Given the description of an element on the screen output the (x, y) to click on. 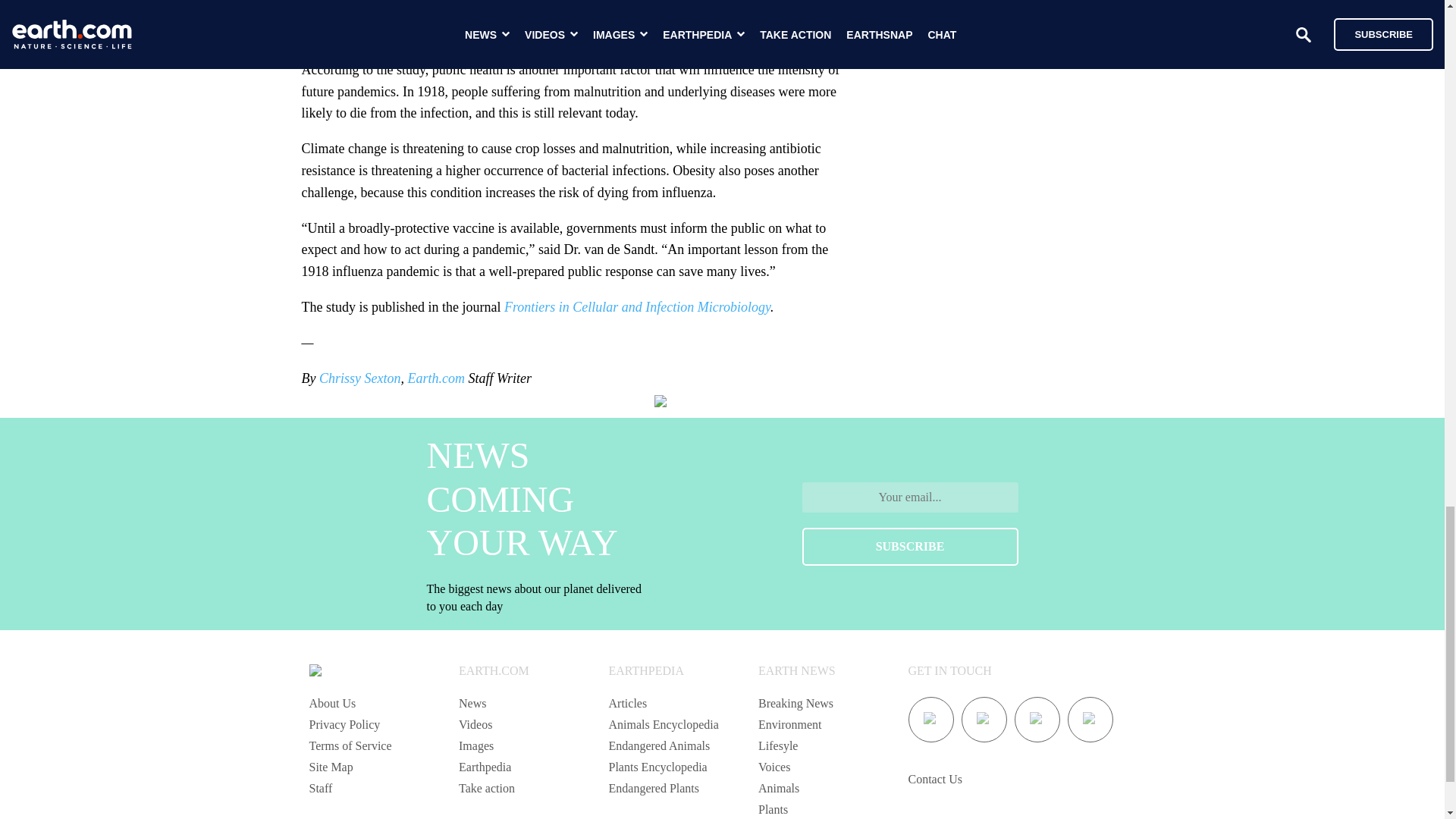
SUBSCRIBE (909, 546)
Frontiers in Cellular and Infection Microbiology (636, 306)
Chrissy Sexton (359, 378)
Earth.com (435, 378)
